Given the description of an element on the screen output the (x, y) to click on. 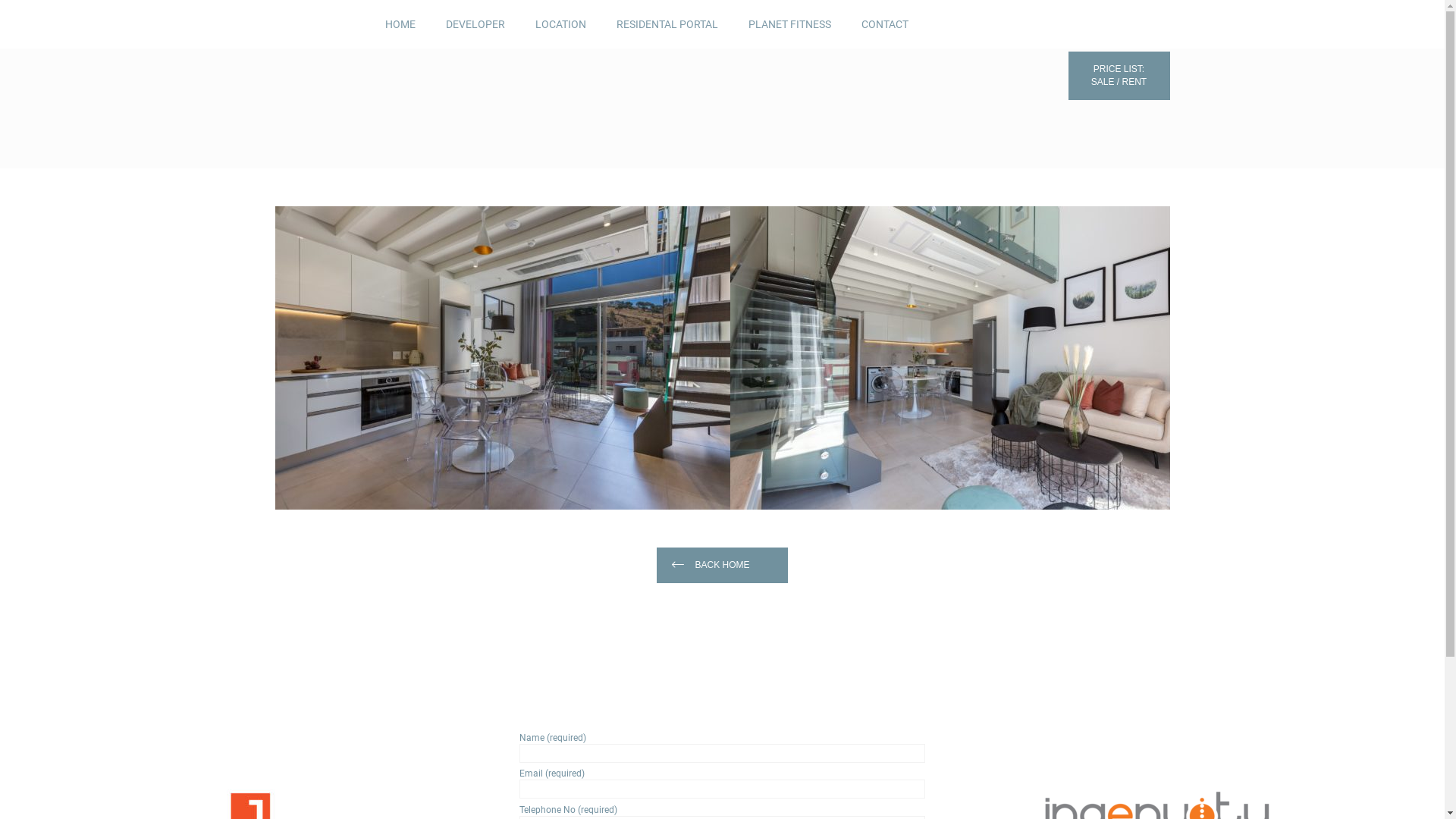
HOME Element type: text (400, 24)
DEVELOPER Element type: text (475, 24)
LOCATION Element type: text (560, 24)
RESIDENTAL PORTAL Element type: text (666, 24)
PRICE LIST: SALE / RENT Element type: text (1118, 75)
PLANET FITNESS Element type: text (788, 24)
CONTACT Element type: text (884, 24)
BACK HOME Element type: text (721, 565)
